Given the description of an element on the screen output the (x, y) to click on. 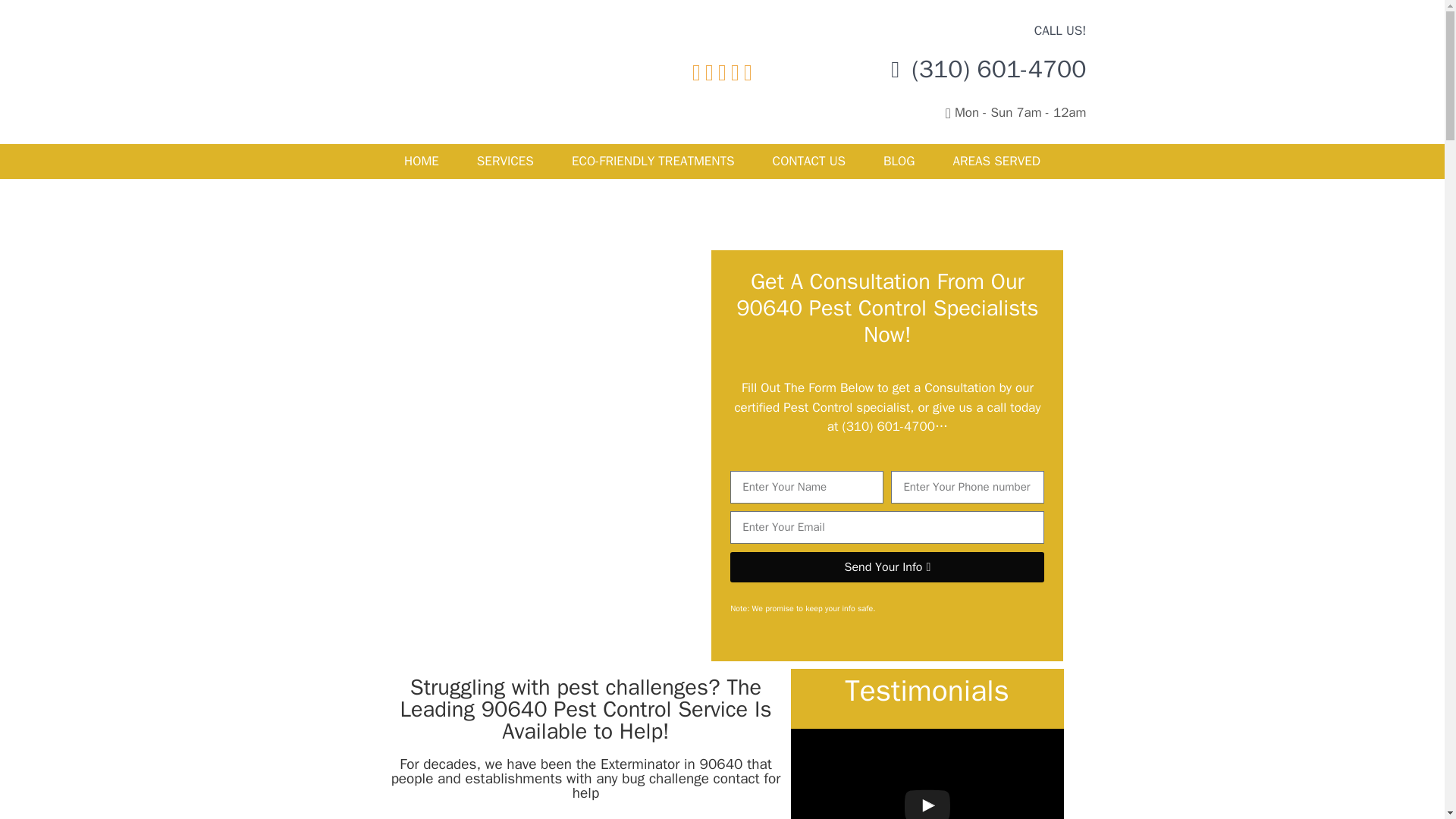
HOME (421, 161)
SERVICES (505, 161)
ECO-FRIENDLY TREATMENTS (653, 161)
BLOG (898, 161)
AREAS SERVED (996, 161)
CONTACT US (809, 161)
